Given the description of an element on the screen output the (x, y) to click on. 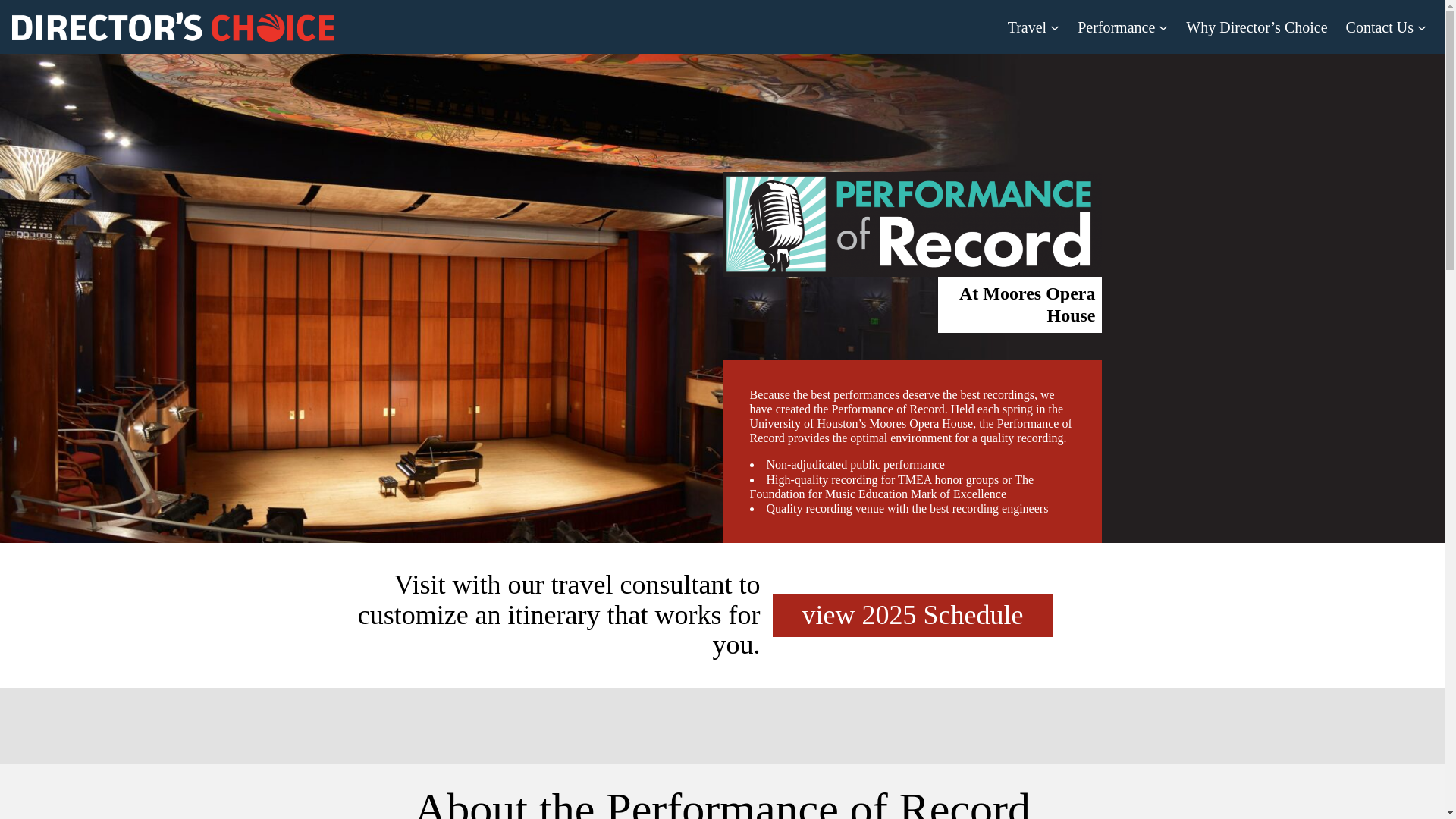
Contact Us (1385, 27)
Travel (1033, 27)
Performance (1122, 27)
view 2025 Schedule (911, 615)
